Given the description of an element on the screen output the (x, y) to click on. 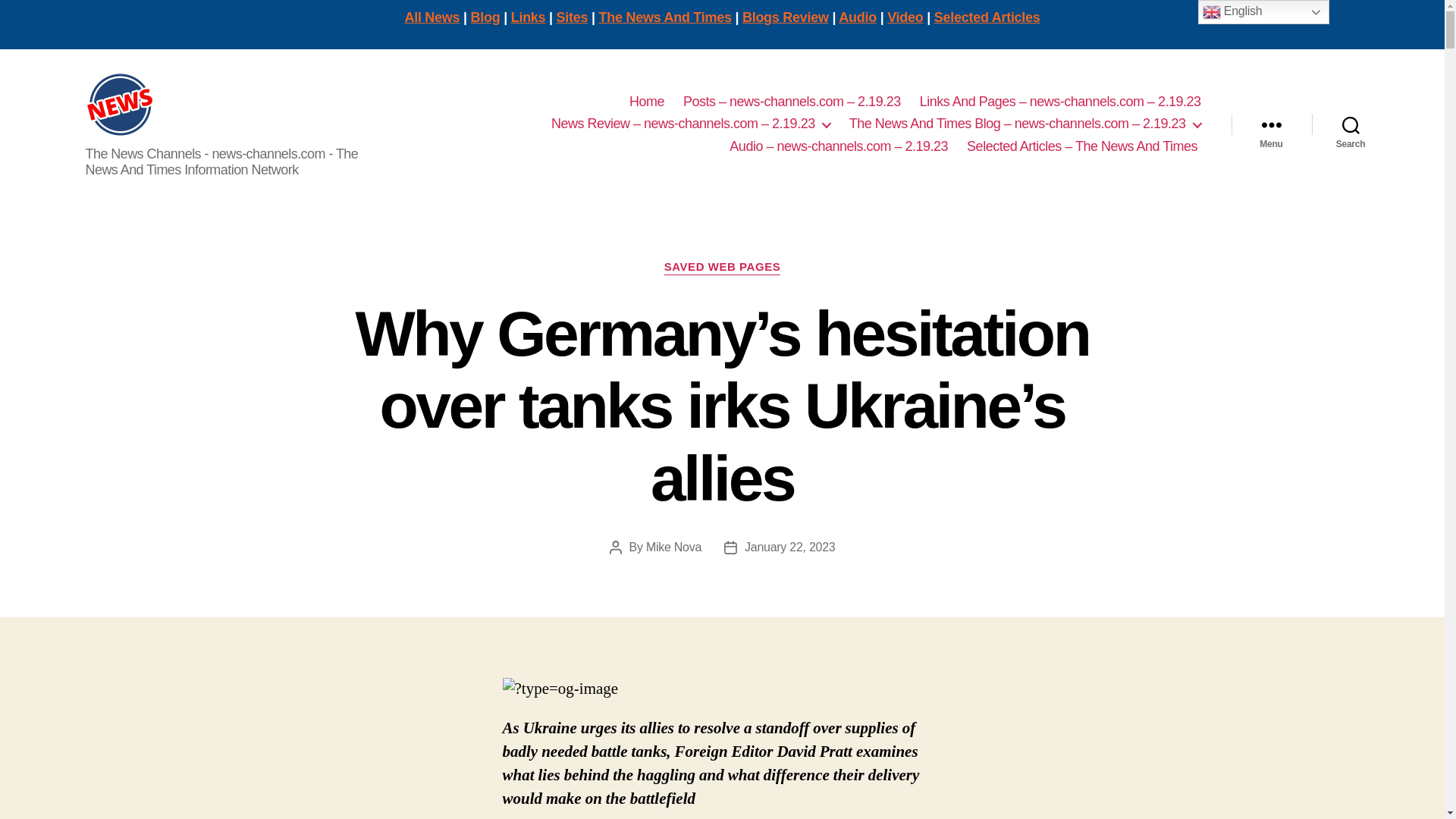
All News (432, 17)
The News And Times (665, 17)
Search (1350, 123)
Selected Articles (987, 17)
Home (645, 102)
Audio (857, 17)
Blog (485, 17)
Sites (572, 17)
Video (904, 17)
Blogs Review (785, 17)
Links (528, 17)
Menu (1271, 123)
